Given the description of an element on the screen output the (x, y) to click on. 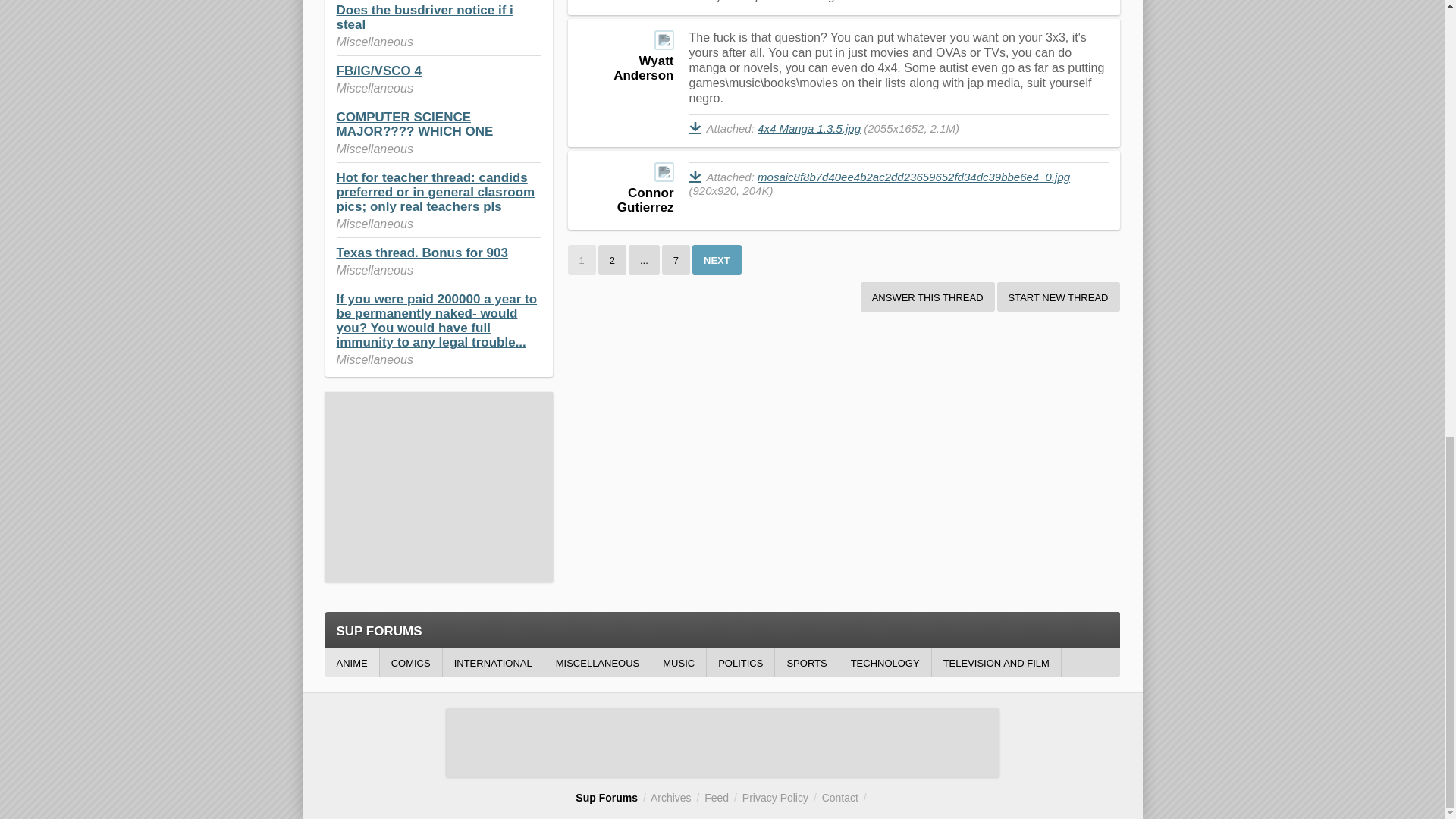
ANSWER THIS THREAD (927, 296)
NEXT (717, 259)
... (643, 259)
Does the busdriver notice if i steal (424, 17)
4x4 Manga 1.3.5.jpg (808, 128)
2 (612, 259)
7 (676, 259)
COMPUTER SCIENCE MAJOR???? WHICH ONE (414, 123)
START NEW THREAD (1058, 296)
Texas thread. Bonus for 903 (422, 252)
